Given the description of an element on the screen output the (x, y) to click on. 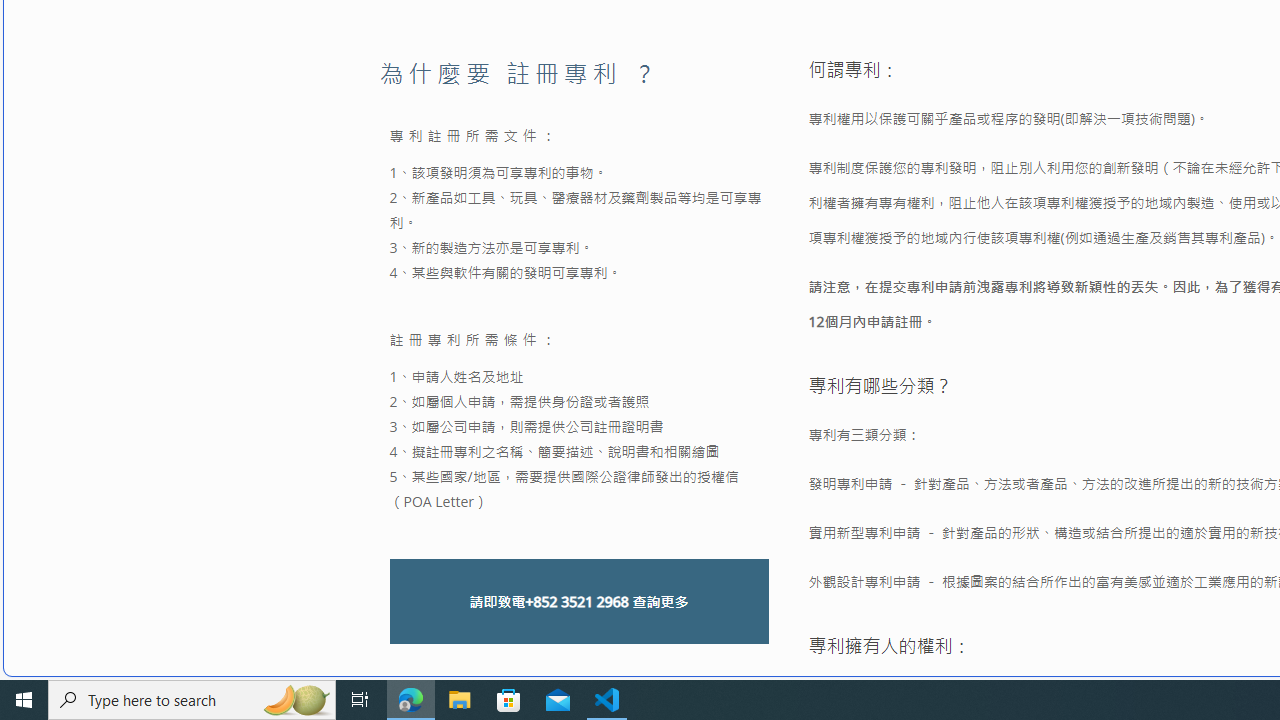
+852 3521 2968 (576, 601)
